Given the description of an element on the screen output the (x, y) to click on. 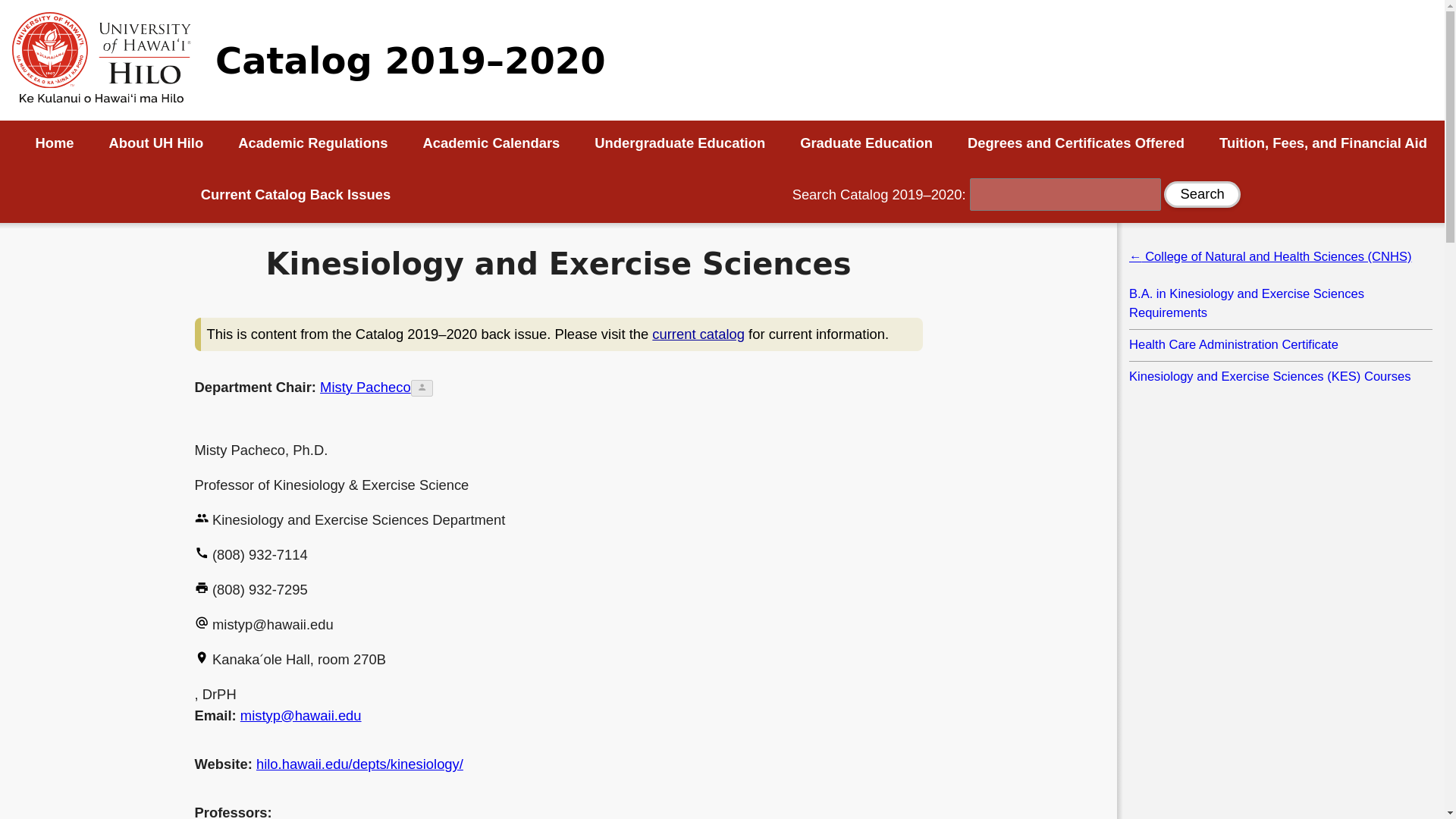
Undergraduate Education (679, 143)
Graduate Education (865, 143)
About UH Hilo (156, 143)
current catalog (698, 333)
Search (1201, 194)
Academic Calendars (491, 143)
Current Catalog Back Issues (296, 194)
Academic Regulations (311, 143)
Tuition, Fees, and Financial Aid (1323, 143)
